Given the description of an element on the screen output the (x, y) to click on. 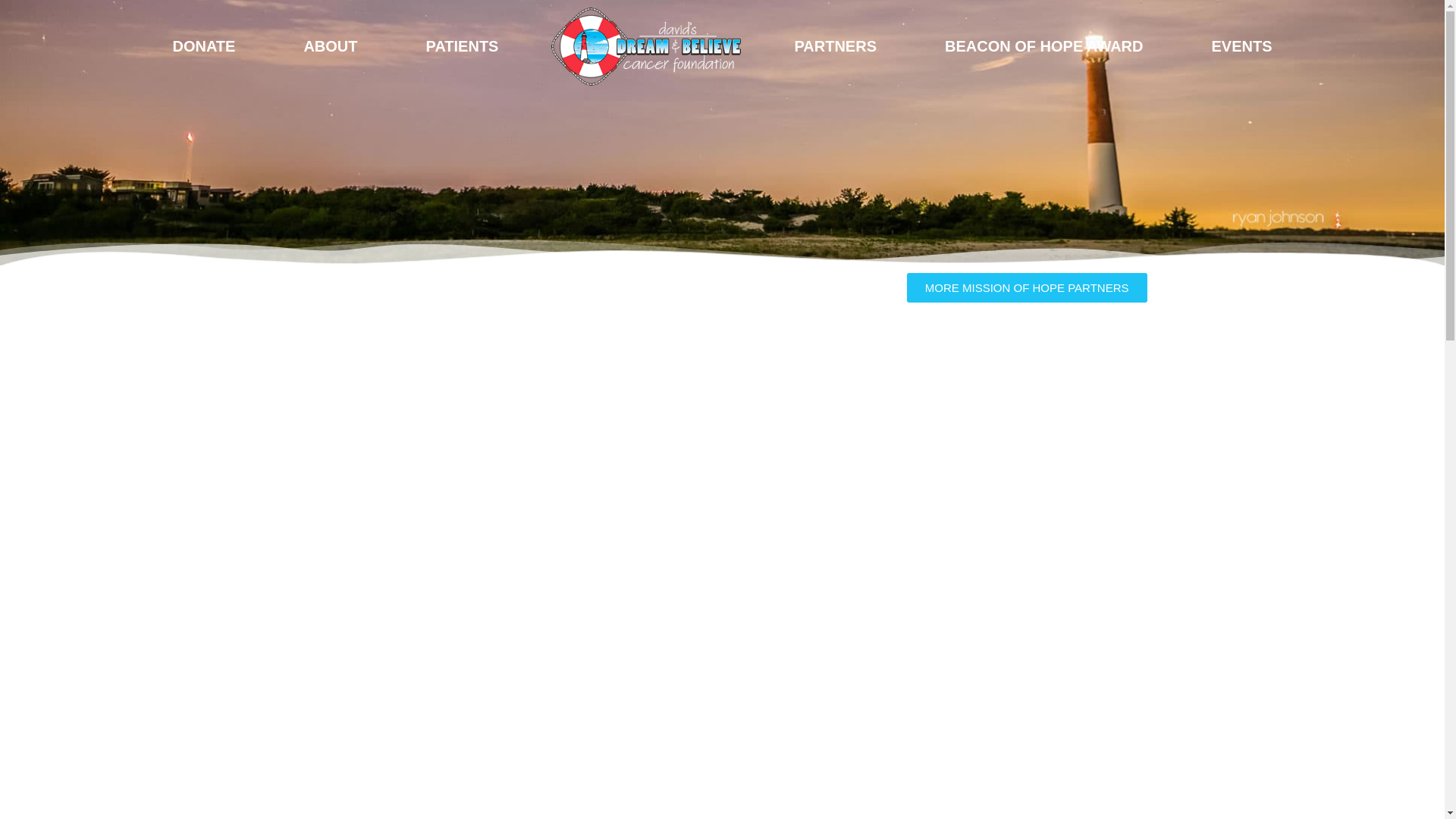
PATIENTS (461, 46)
EVENTS (1241, 46)
PARTNERS (834, 46)
DONATE (203, 46)
ABOUT (330, 46)
BEACON OF HOPE AWARD (1044, 46)
